Given the description of an element on the screen output the (x, y) to click on. 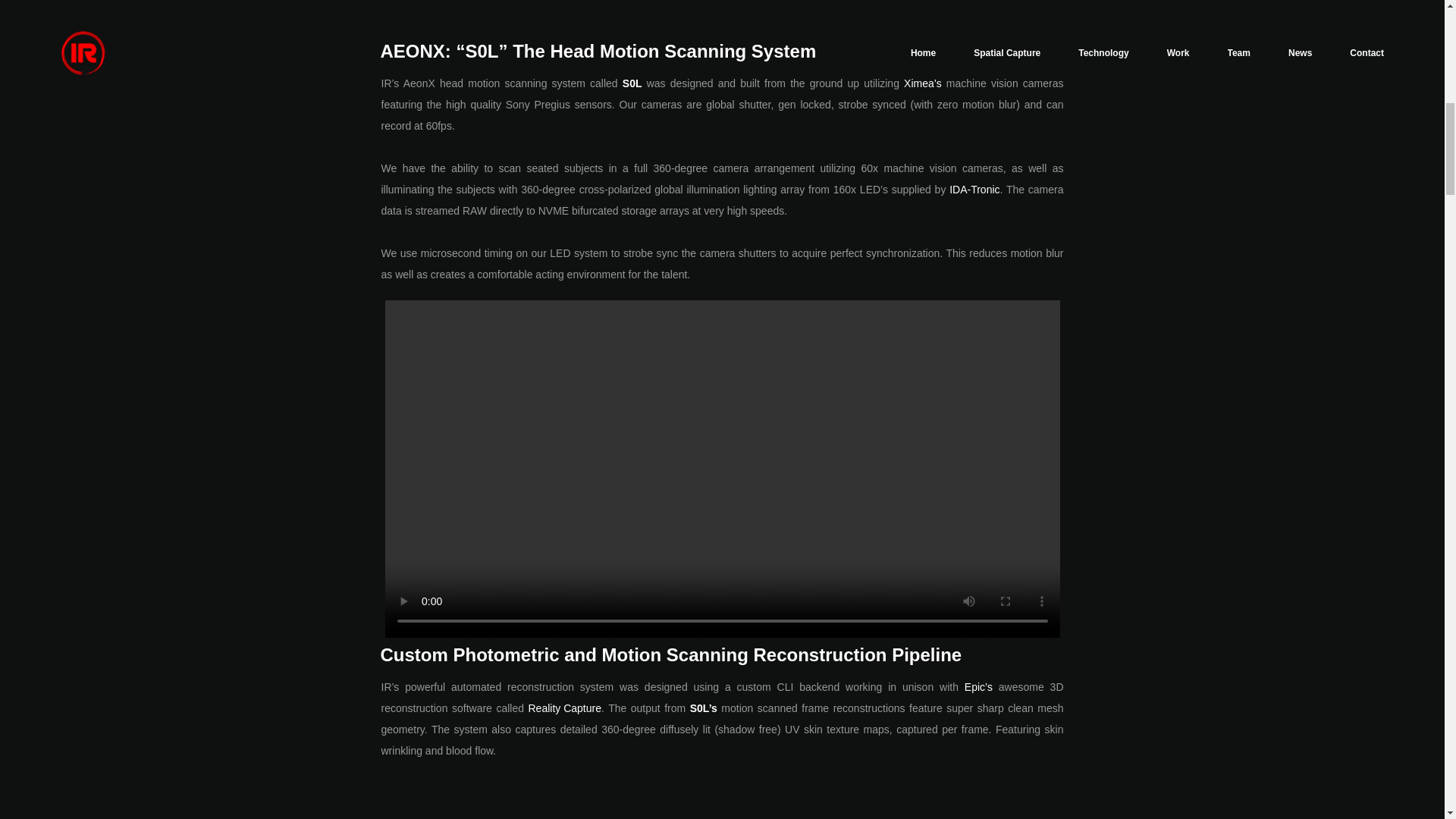
IDA-Tronic (973, 189)
Reality Capture (564, 708)
